Given the description of an element on the screen output the (x, y) to click on. 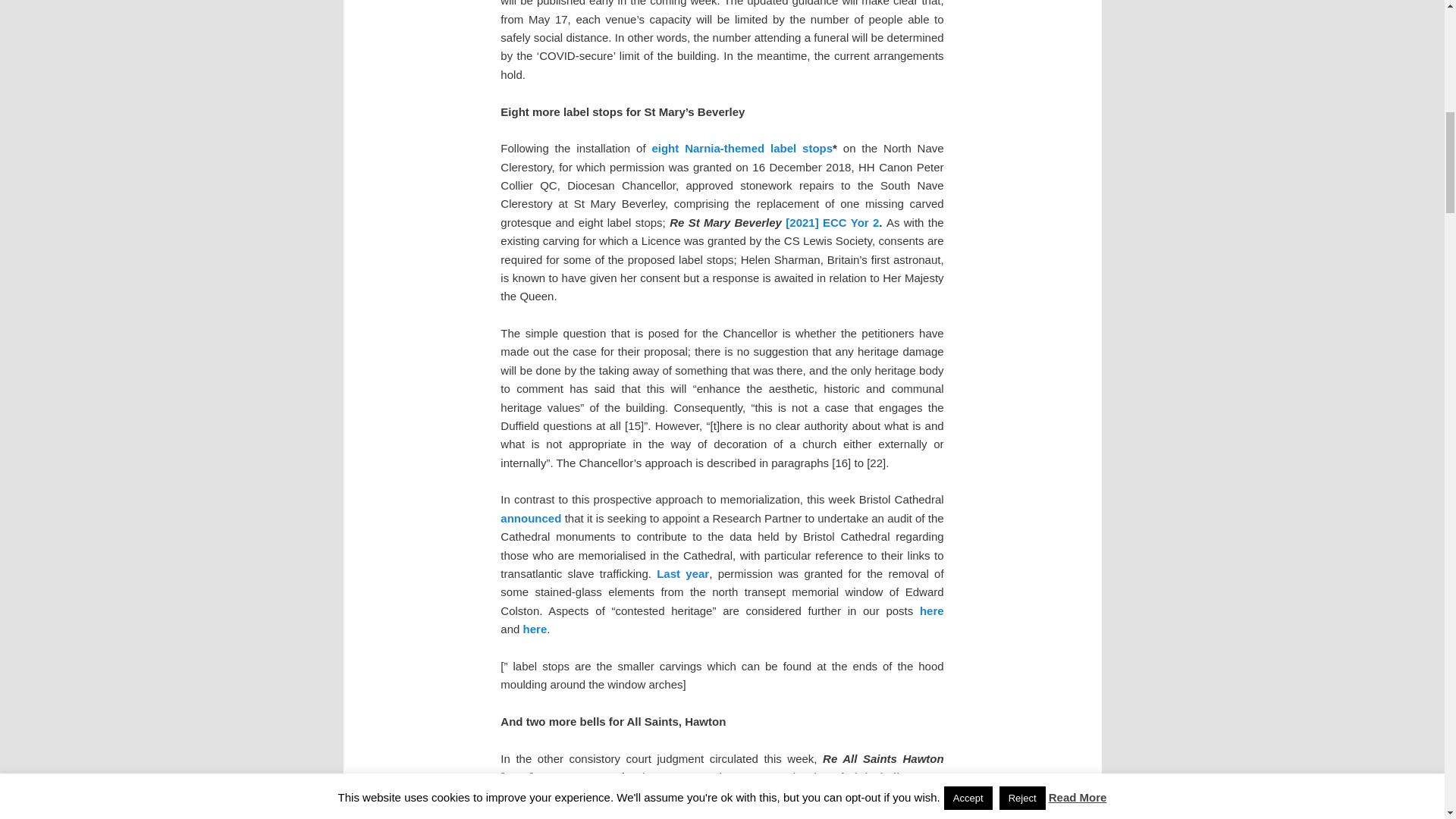
Last year (682, 573)
eight Narnia-themed label stops (741, 147)
here (534, 628)
announced (530, 517)
here (931, 610)
eight bells (876, 776)
